Given the description of an element on the screen output the (x, y) to click on. 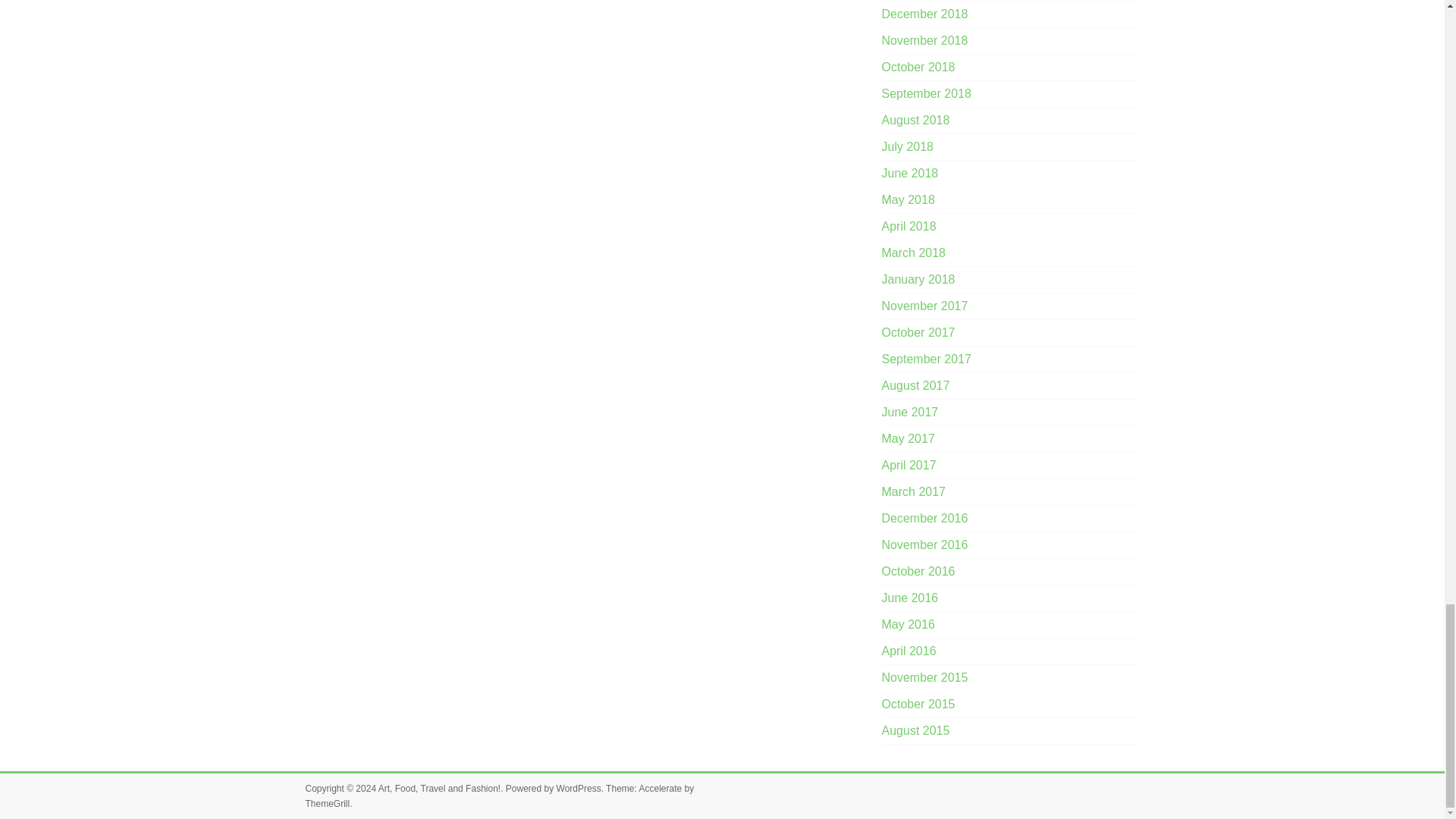
WordPress (578, 787)
ThemeGrill (326, 803)
Art, Food, Travel and Fashion! (439, 787)
